Given the description of an element on the screen output the (x, y) to click on. 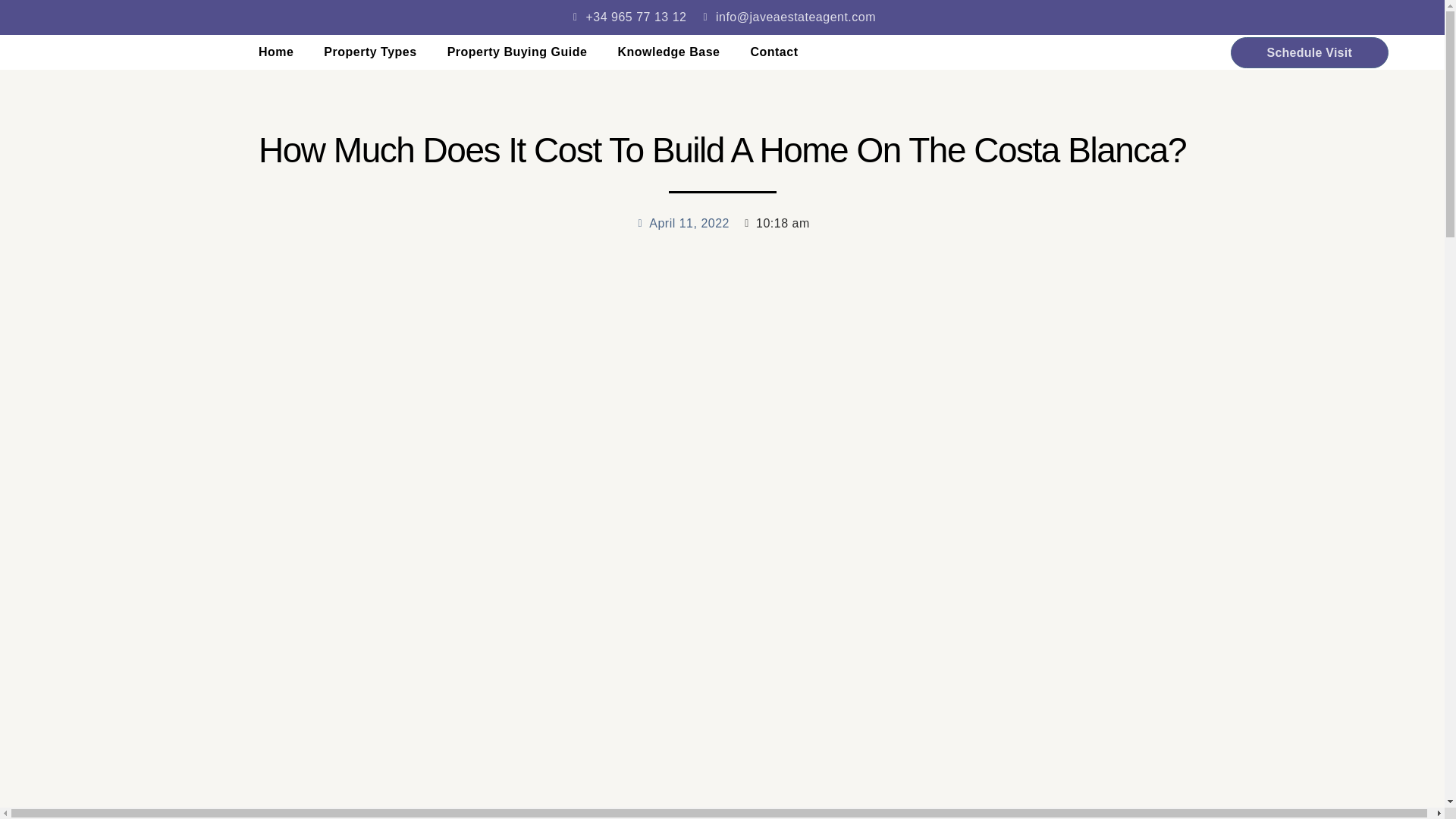
Home (275, 52)
Property Buying Guide (517, 52)
April 11, 2022 (681, 223)
Contact (773, 52)
Schedule Visit (1309, 51)
Knowledge Base (668, 52)
Property Types (369, 52)
